Given the description of an element on the screen output the (x, y) to click on. 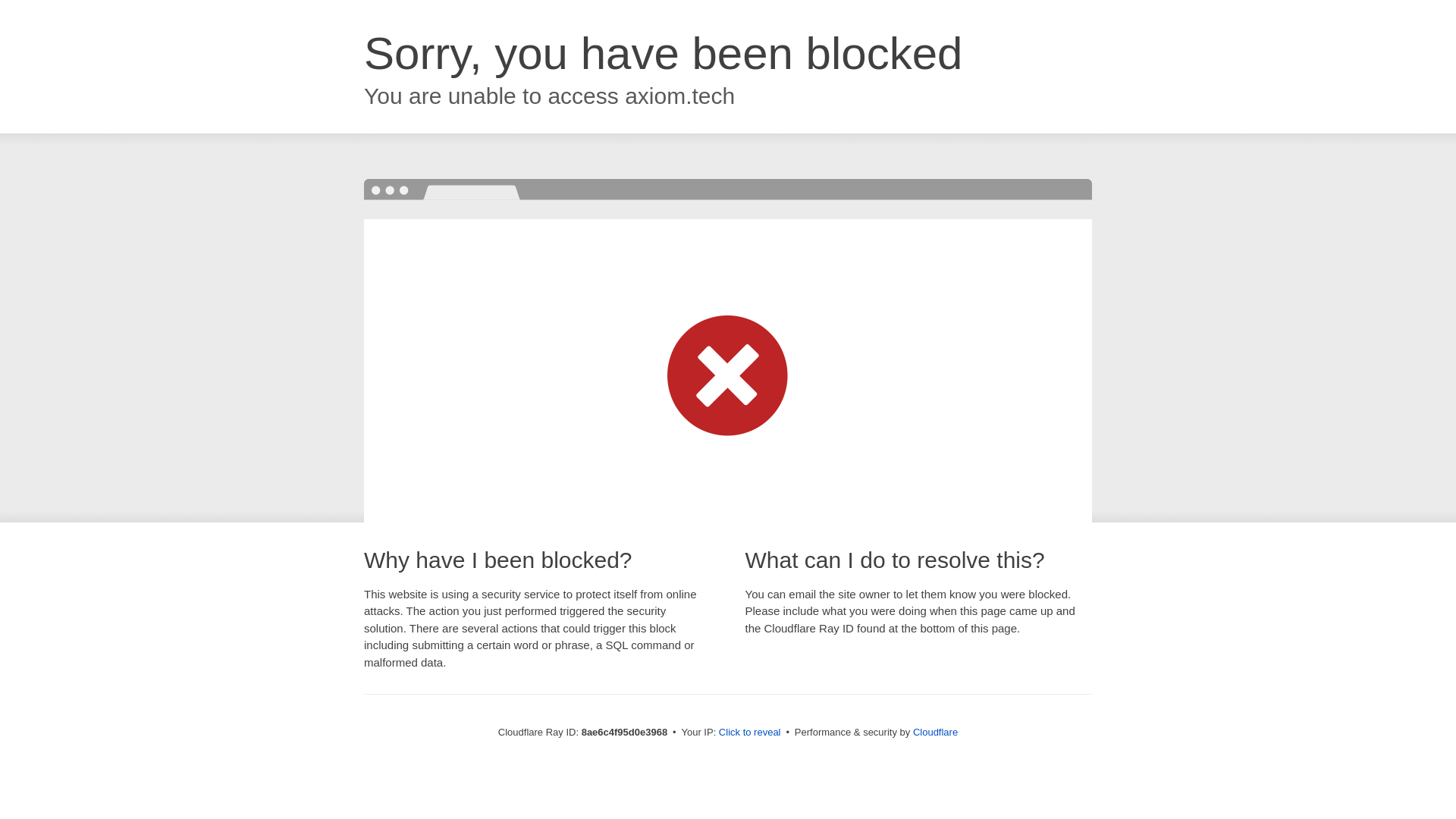
Cloudflare (935, 731)
Click to reveal (749, 732)
